Given the description of an element on the screen output the (x, y) to click on. 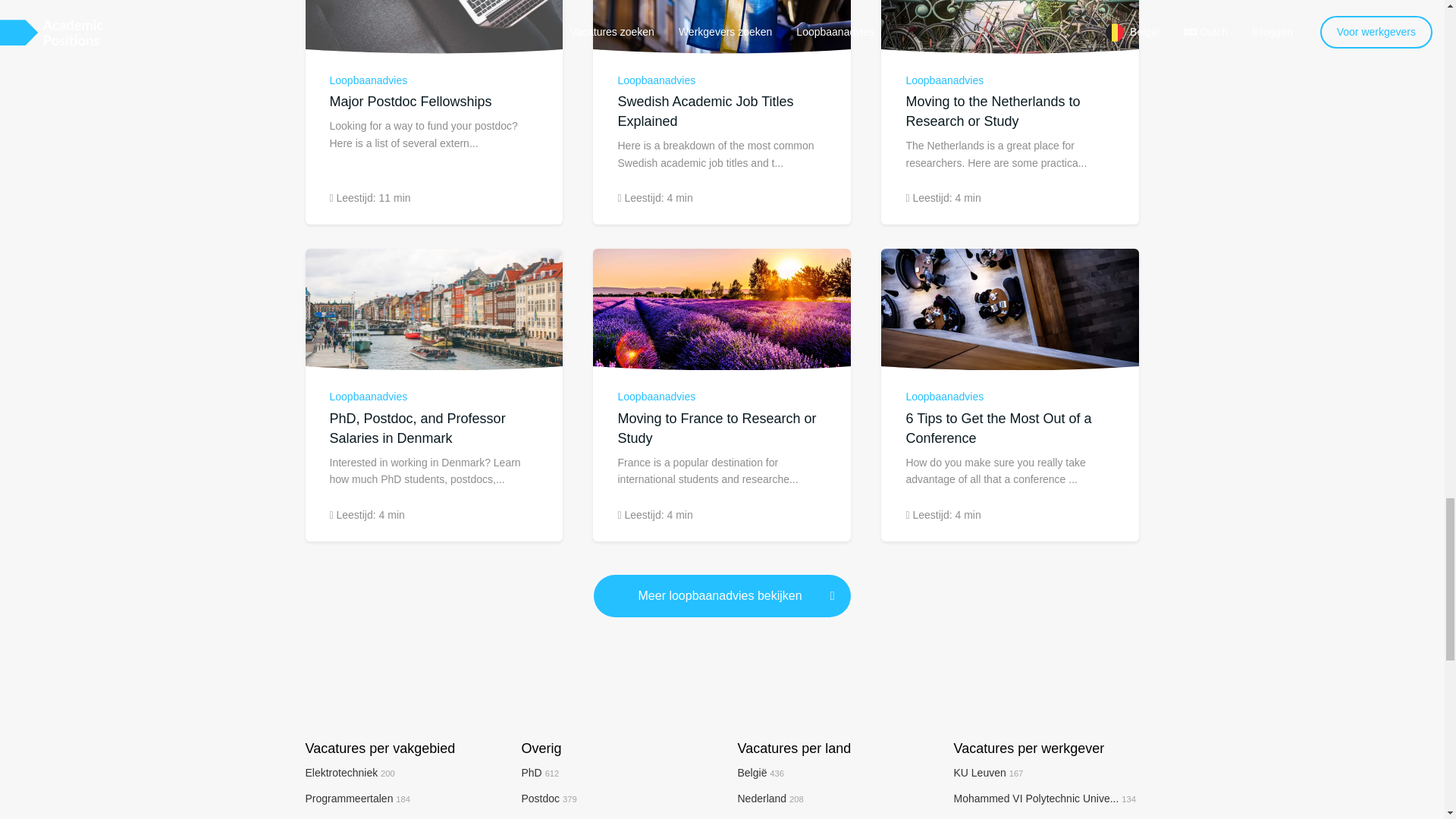
PhD (540, 772)
Programmeertalen (357, 798)
Postdoc (548, 798)
Elektrotechniek (349, 772)
